Given the description of an element on the screen output the (x, y) to click on. 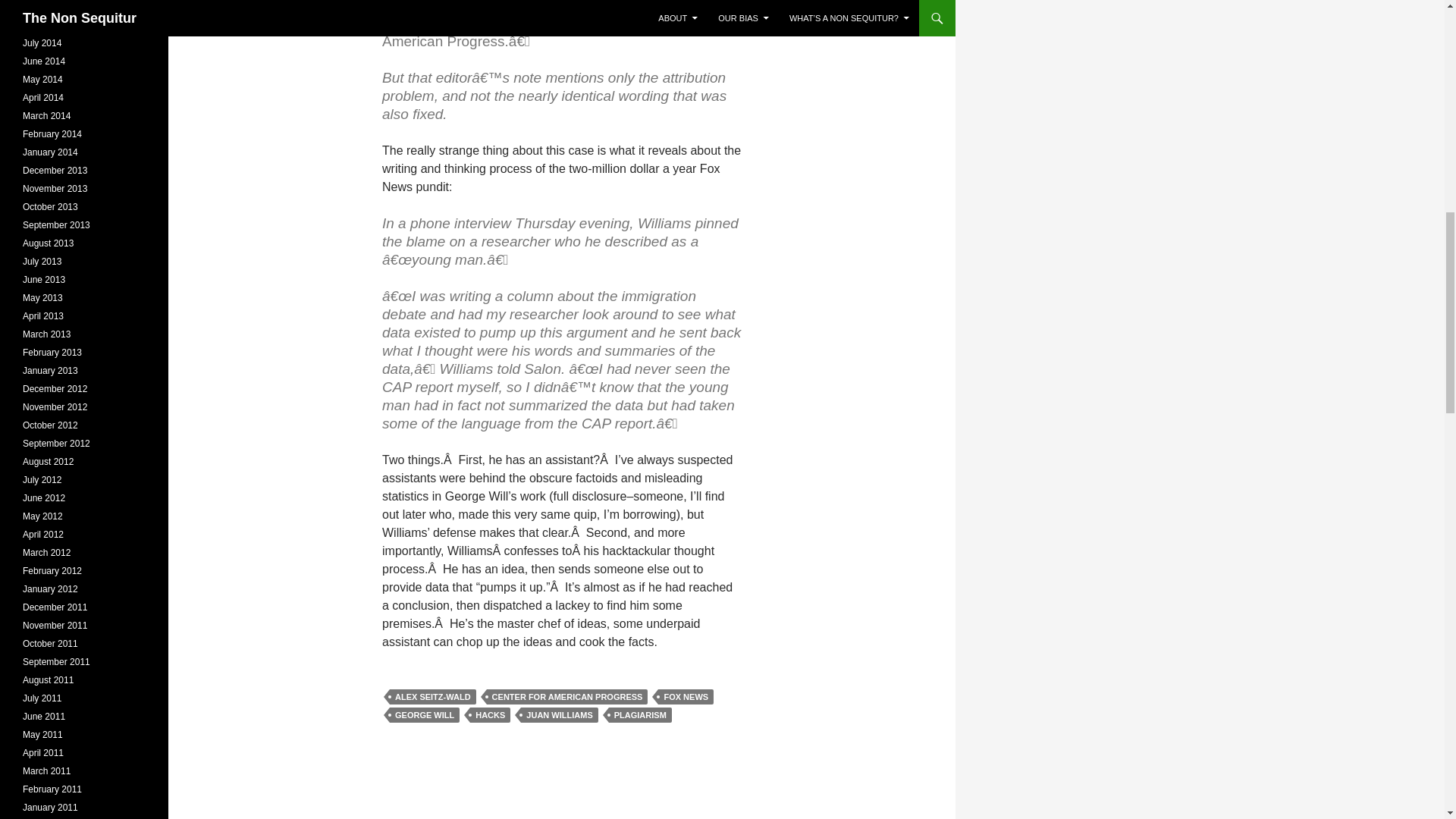
PLAGIARISM (639, 714)
ALEX SEITZ-WALD (433, 696)
CENTER FOR AMERICAN PROGRESS (566, 696)
GEORGE WILL (425, 714)
JUAN WILLIAMS (558, 714)
HACKS (490, 714)
FOX NEWS (685, 696)
